Given the description of an element on the screen output the (x, y) to click on. 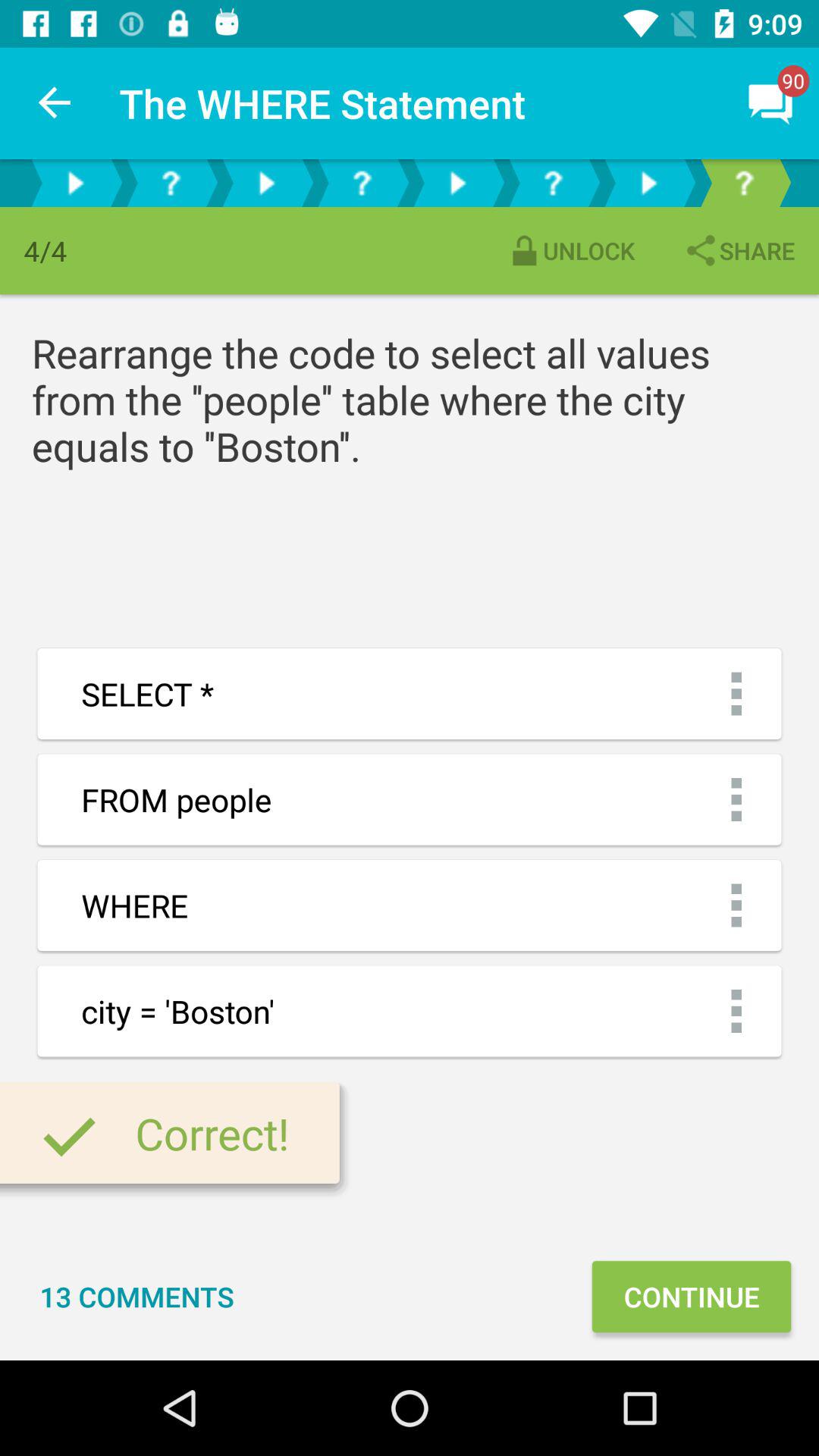
turn on the share icon (738, 250)
